Given the description of an element on the screen output the (x, y) to click on. 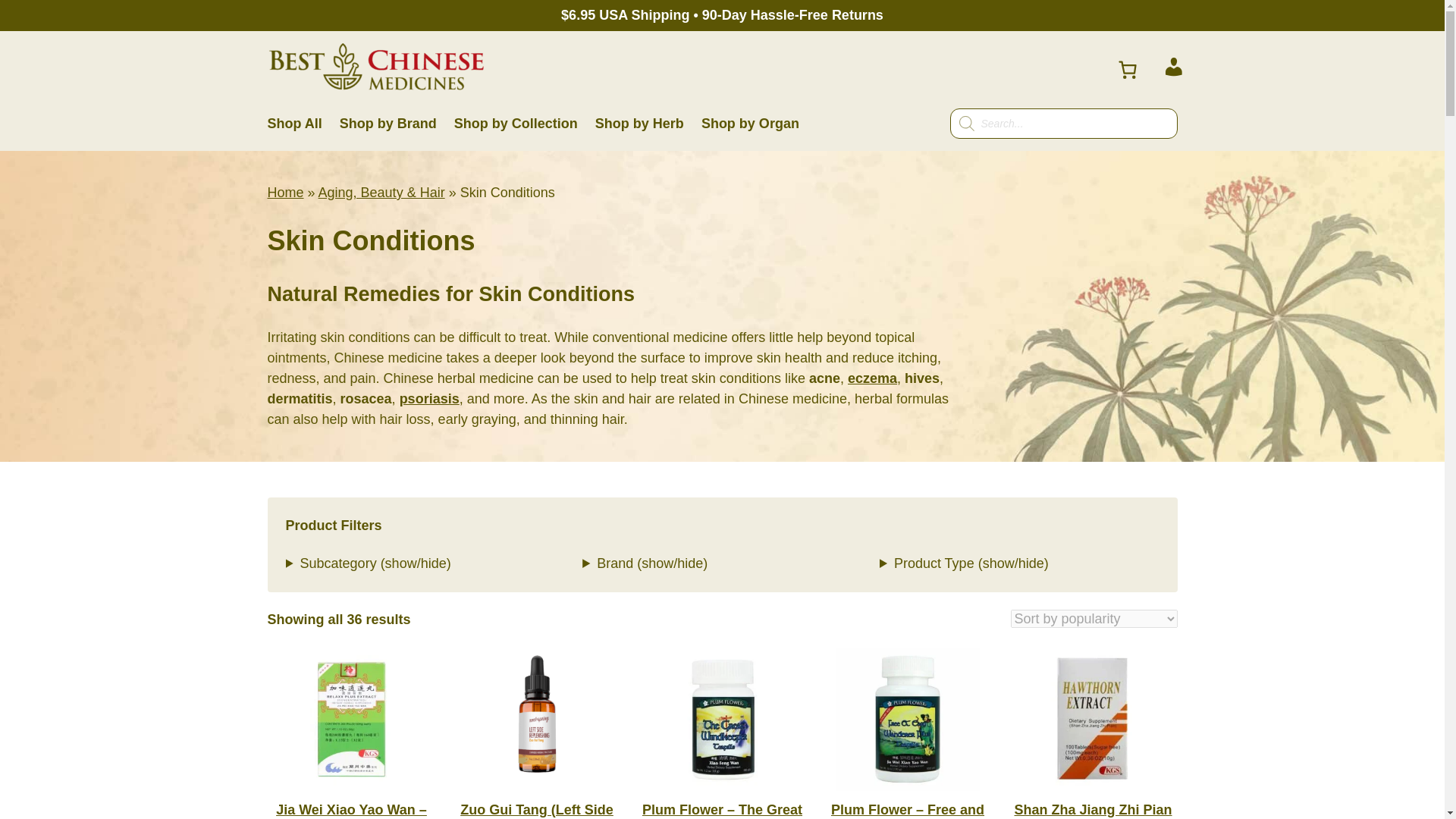
Shop by Collection (516, 123)
Home (284, 192)
Shop by Brand (387, 123)
eczema (871, 378)
psoriasis (429, 398)
Shop All (293, 123)
Shop by Herb (639, 123)
Shop by Organ (750, 123)
